Given the description of an element on the screen output the (x, y) to click on. 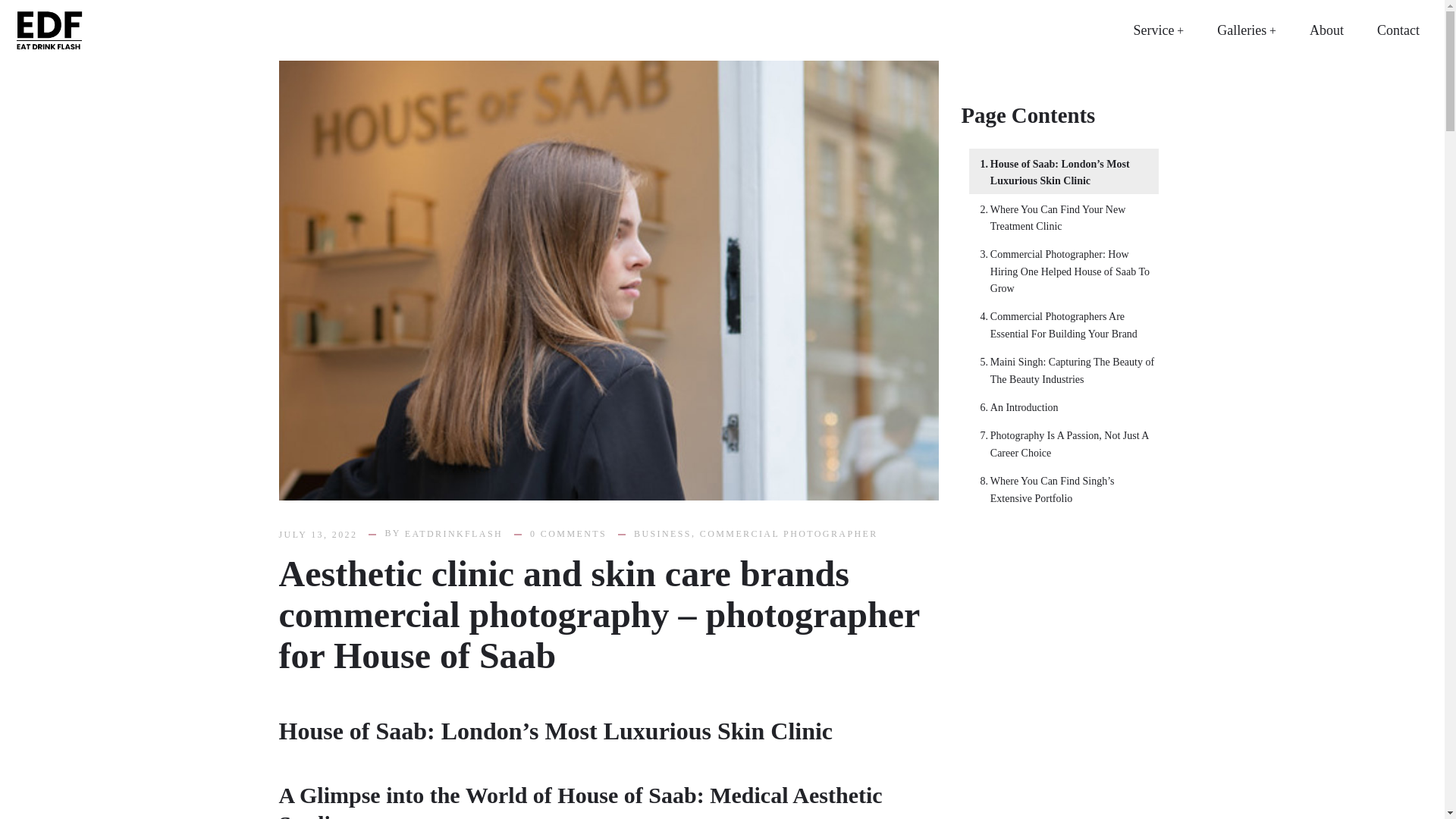
Contact (1398, 30)
Galleries (1246, 30)
Service (1157, 30)
About (1326, 30)
Where You Can Find Your New Treatment Clinic (1064, 218)
An Introduction (1015, 407)
Maini Singh: Capturing The Beauty of The Beauty Industries (1064, 370)
